Given the description of an element on the screen output the (x, y) to click on. 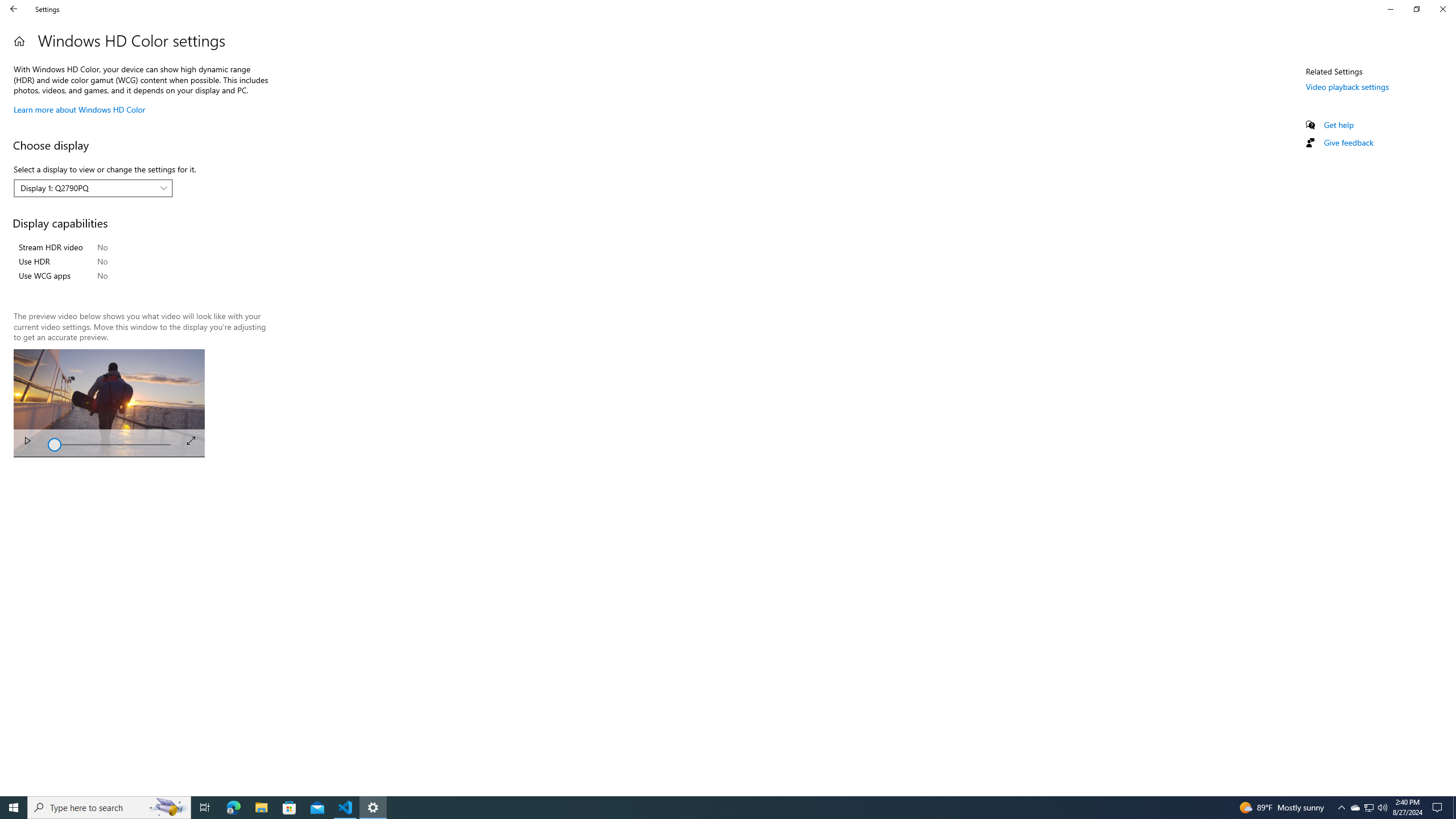
Select a display to view or change the settings for it. (93, 188)
Give feedback (1348, 142)
Close Settings (1442, 9)
Minimize Settings (1390, 9)
Get help (1338, 124)
Running applications (717, 807)
